Given the description of an element on the screen output the (x, y) to click on. 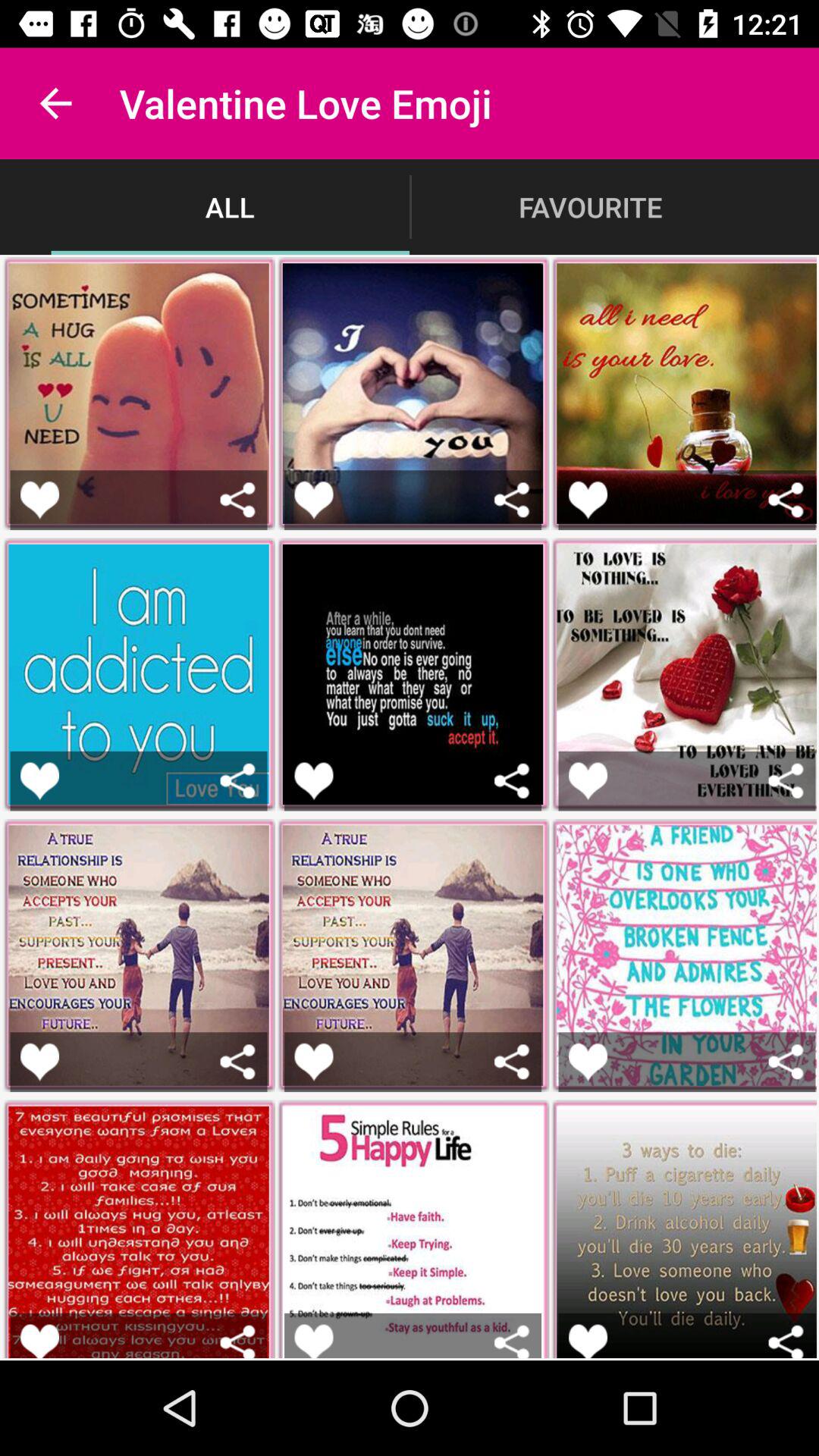
favorite an image (39, 499)
